Given the description of an element on the screen output the (x, y) to click on. 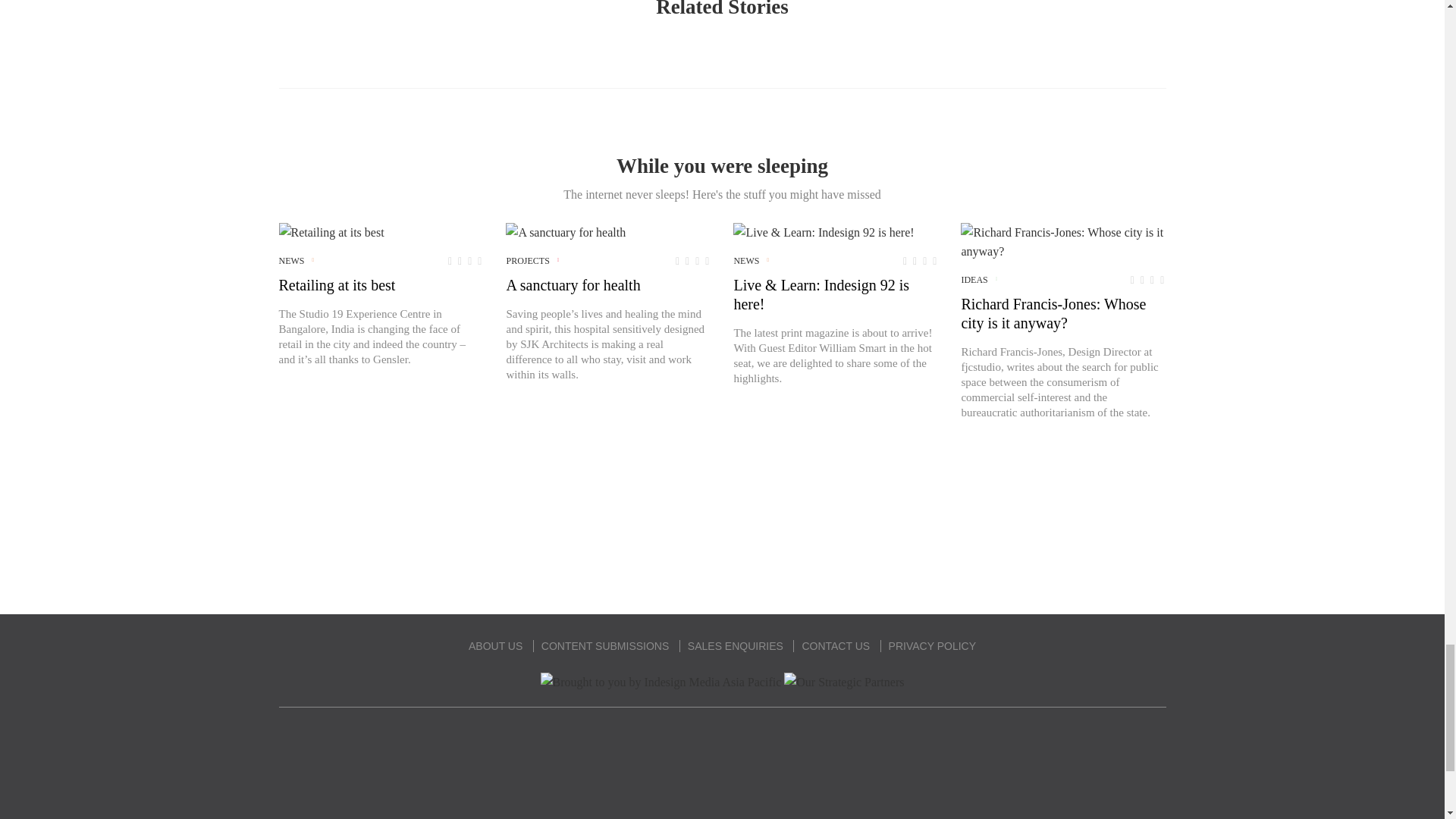
Retailing at its best (331, 231)
A sanctuary for health (565, 231)
Richard Francis-Jones: Whose city is it anyway? (1063, 241)
Our Strategic Partners (844, 681)
Brought to you by Indesign Media Asia Pacific (660, 681)
